Given the description of an element on the screen output the (x, y) to click on. 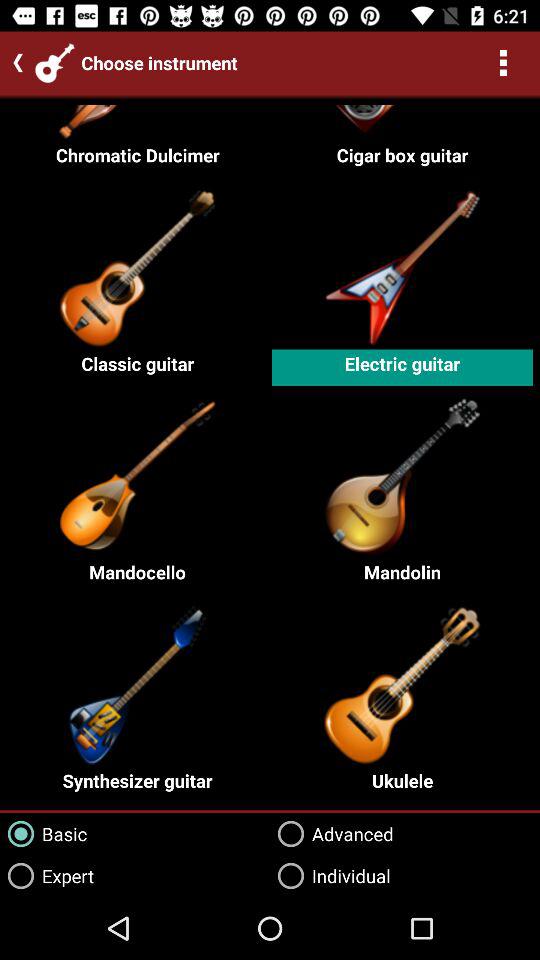
scroll until the individual item (330, 875)
